Given the description of an element on the screen output the (x, y) to click on. 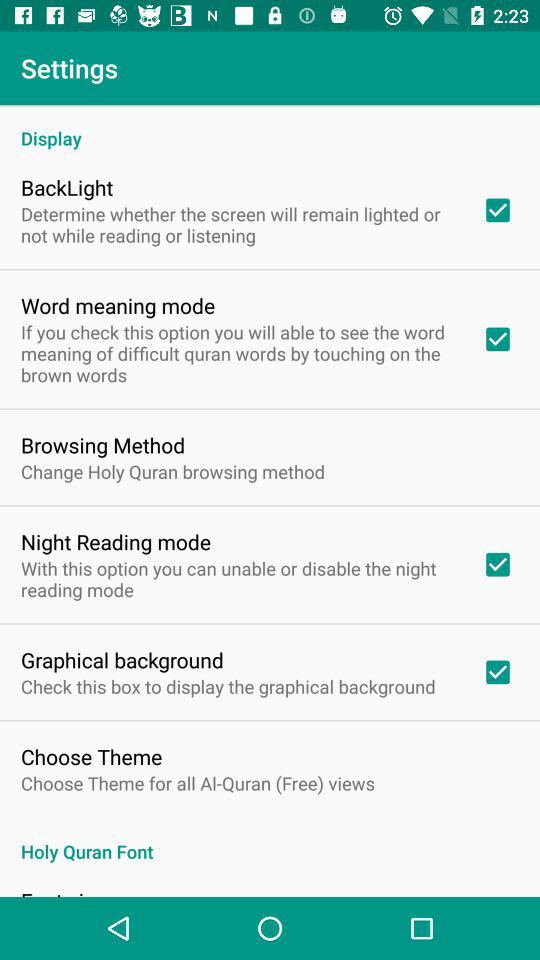
scroll until the determine whether the icon (238, 224)
